Given the description of an element on the screen output the (x, y) to click on. 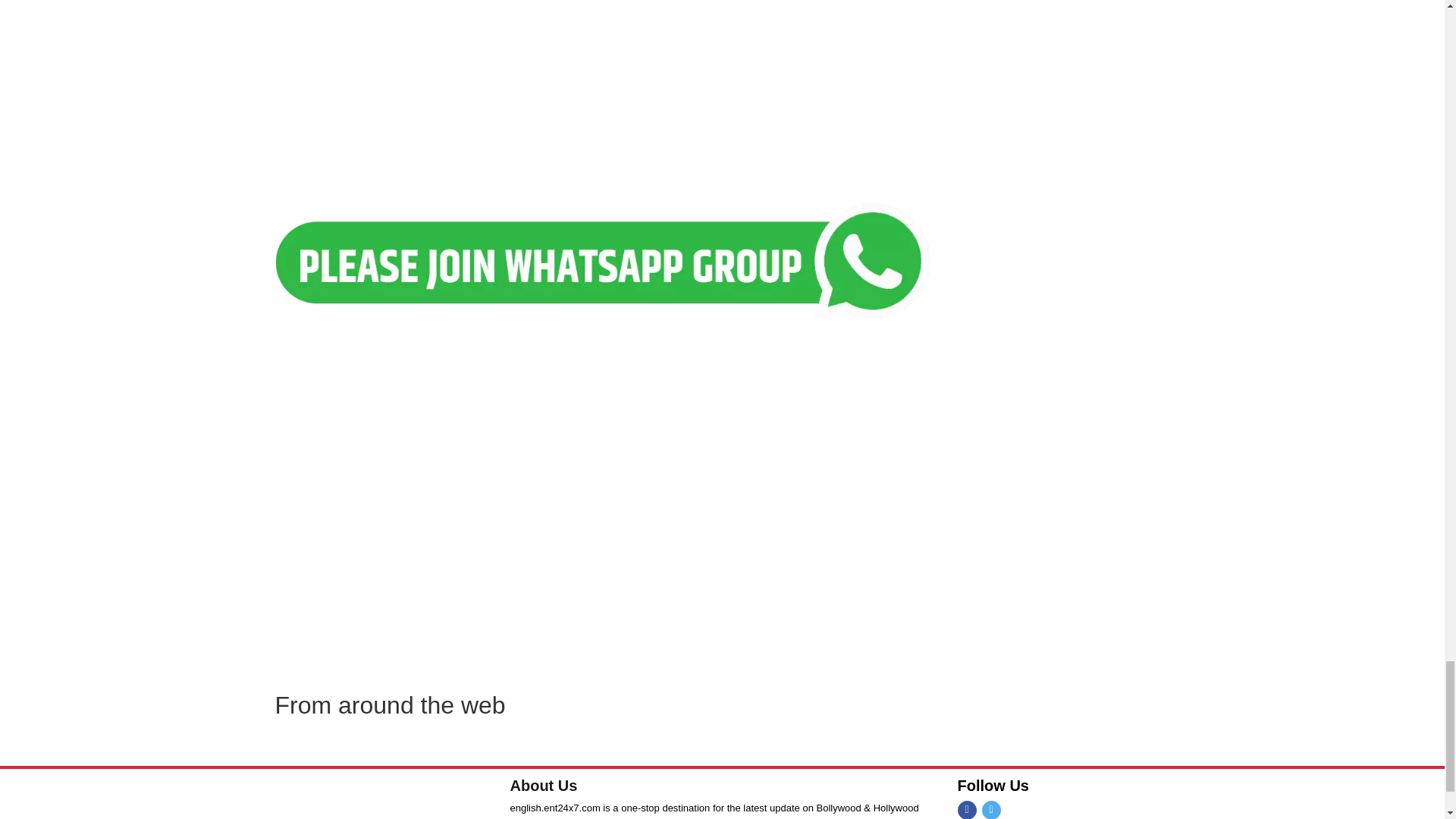
About Us (542, 785)
Twitter (990, 809)
Facebook (965, 809)
